Given the description of an element on the screen output the (x, y) to click on. 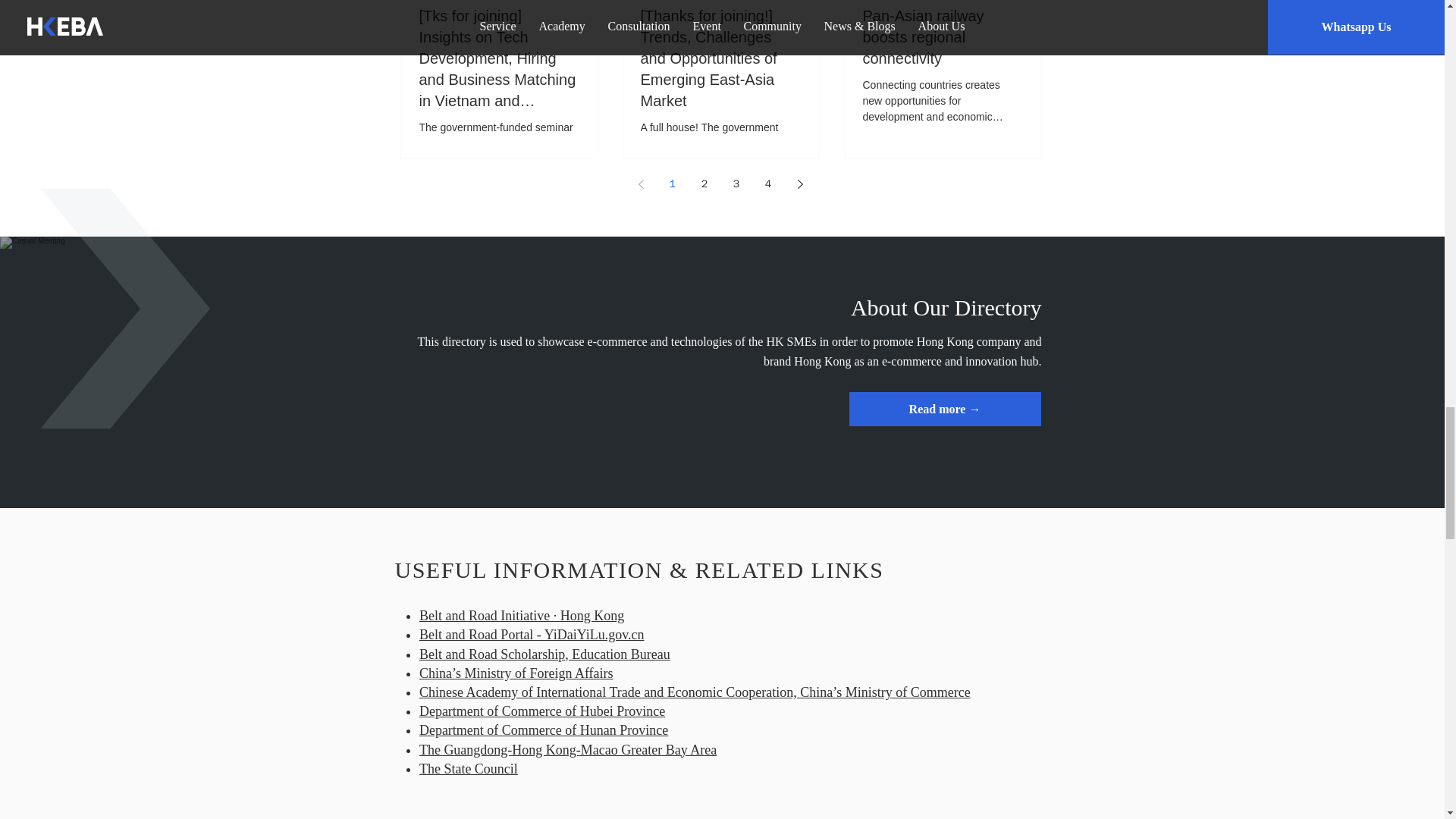
3 (735, 184)
Belt and Road Portal - YiDaiYiLu.gov.cn (532, 634)
Belt and Road Scholarship, Education Bureau (544, 654)
Pan-Asian railway boosts regional connectivity (942, 36)
Department of Commerce of Hubei Province (542, 711)
2 (703, 184)
4 (767, 184)
